Given the description of an element on the screen output the (x, y) to click on. 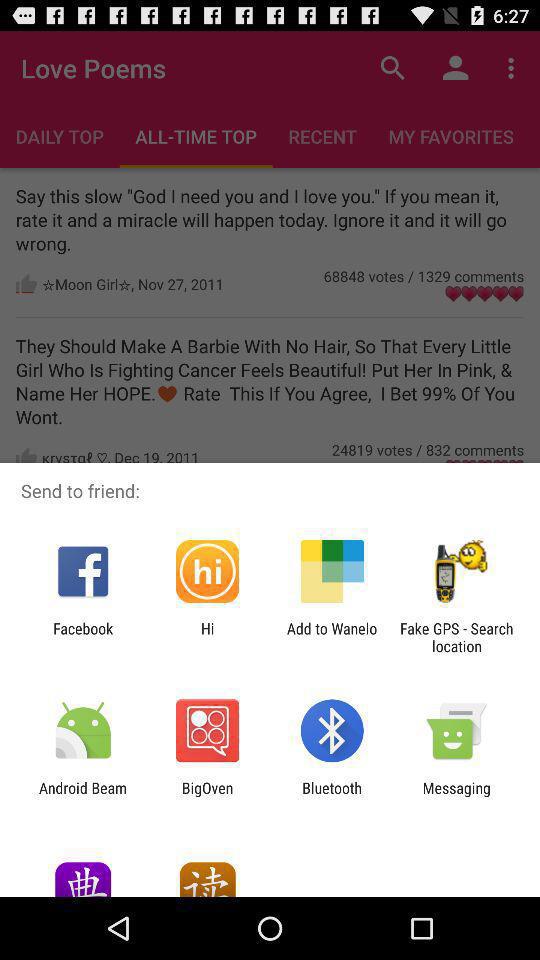
turn off the icon next to bluetooth item (456, 796)
